Given the description of an element on the screen output the (x, y) to click on. 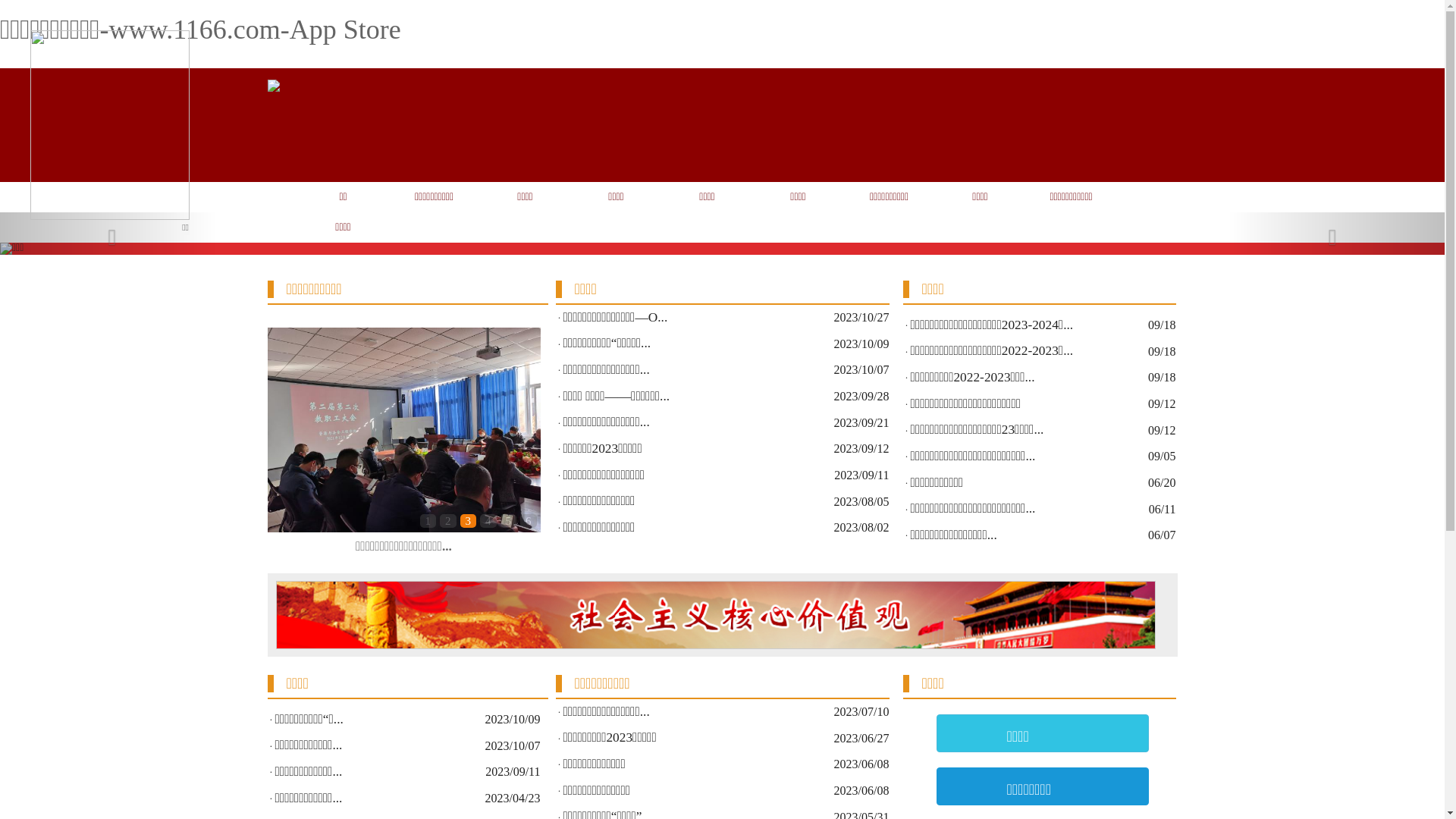
4 Element type: text (488, 520)
5 Element type: text (508, 520)
6 Element type: text (528, 520)
> Element type: text (524, 441)
3 Element type: text (467, 520)
1 Element type: text (428, 520)
< Element type: text (281, 441)
2 Element type: text (447, 520)
